Given the description of an element on the screen output the (x, y) to click on. 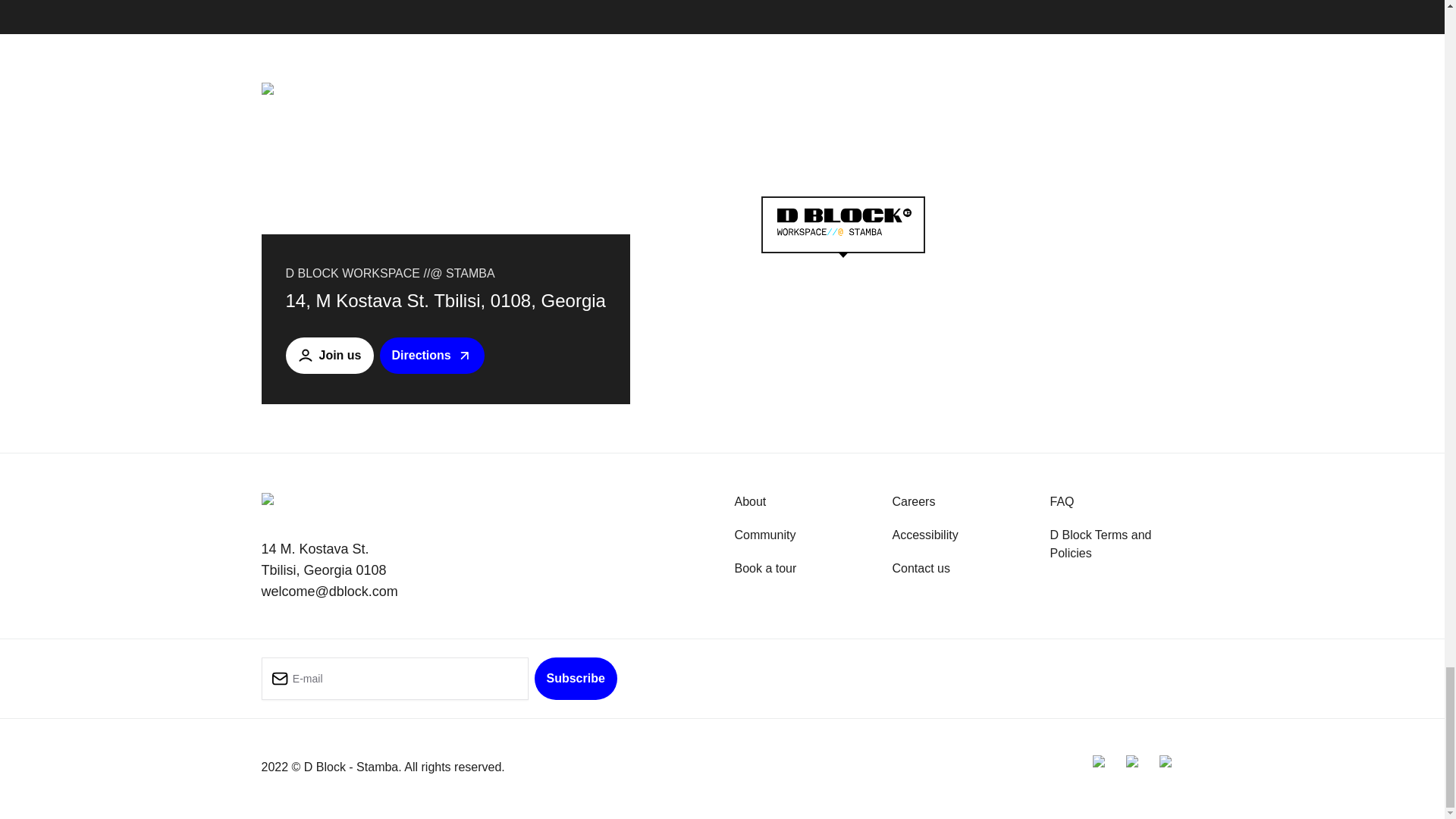
About (749, 501)
Join us (328, 355)
Directions (432, 355)
